Given the description of an element on the screen output the (x, y) to click on. 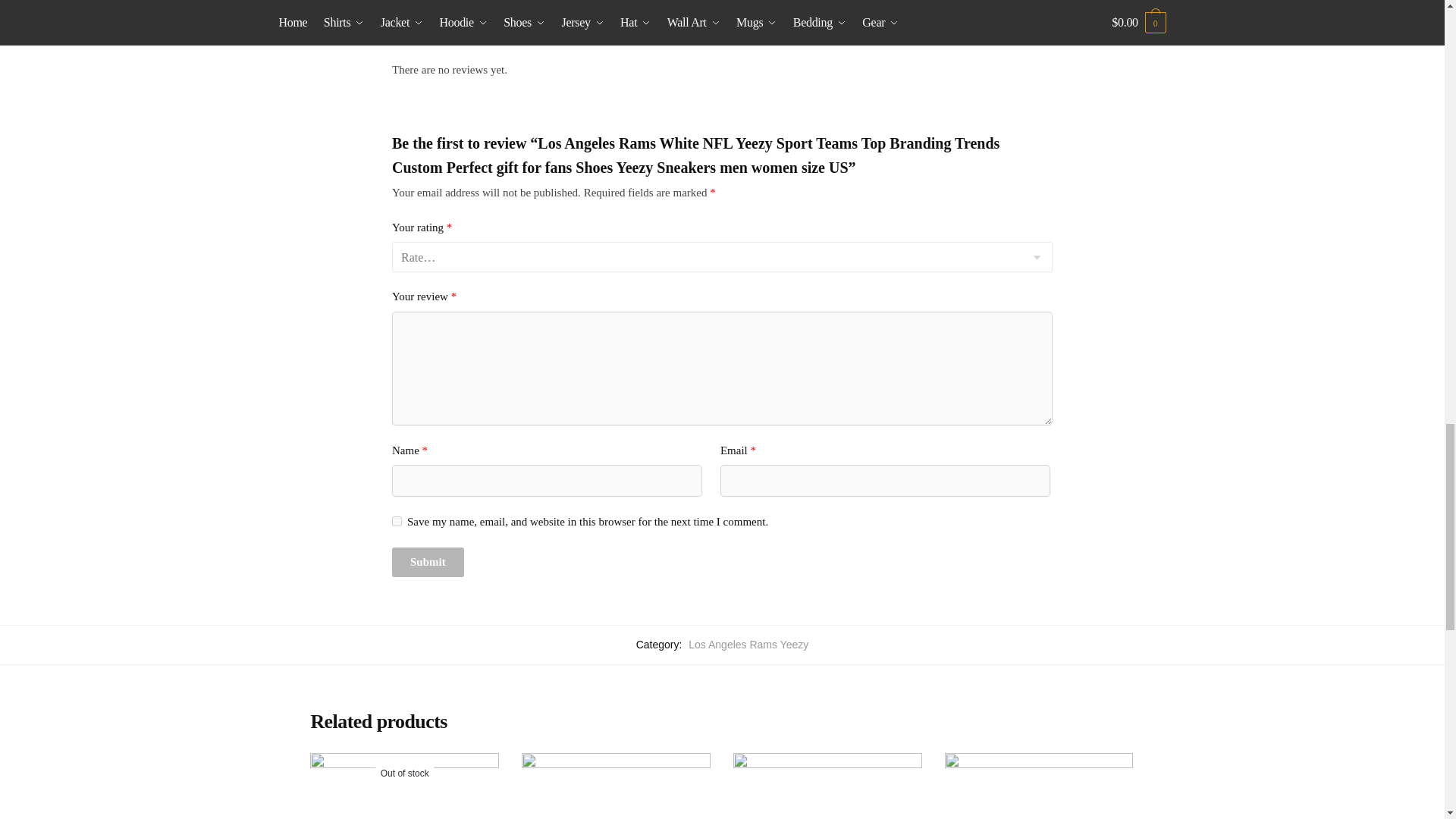
yes (396, 521)
Submit (427, 562)
